Given the description of an element on the screen output the (x, y) to click on. 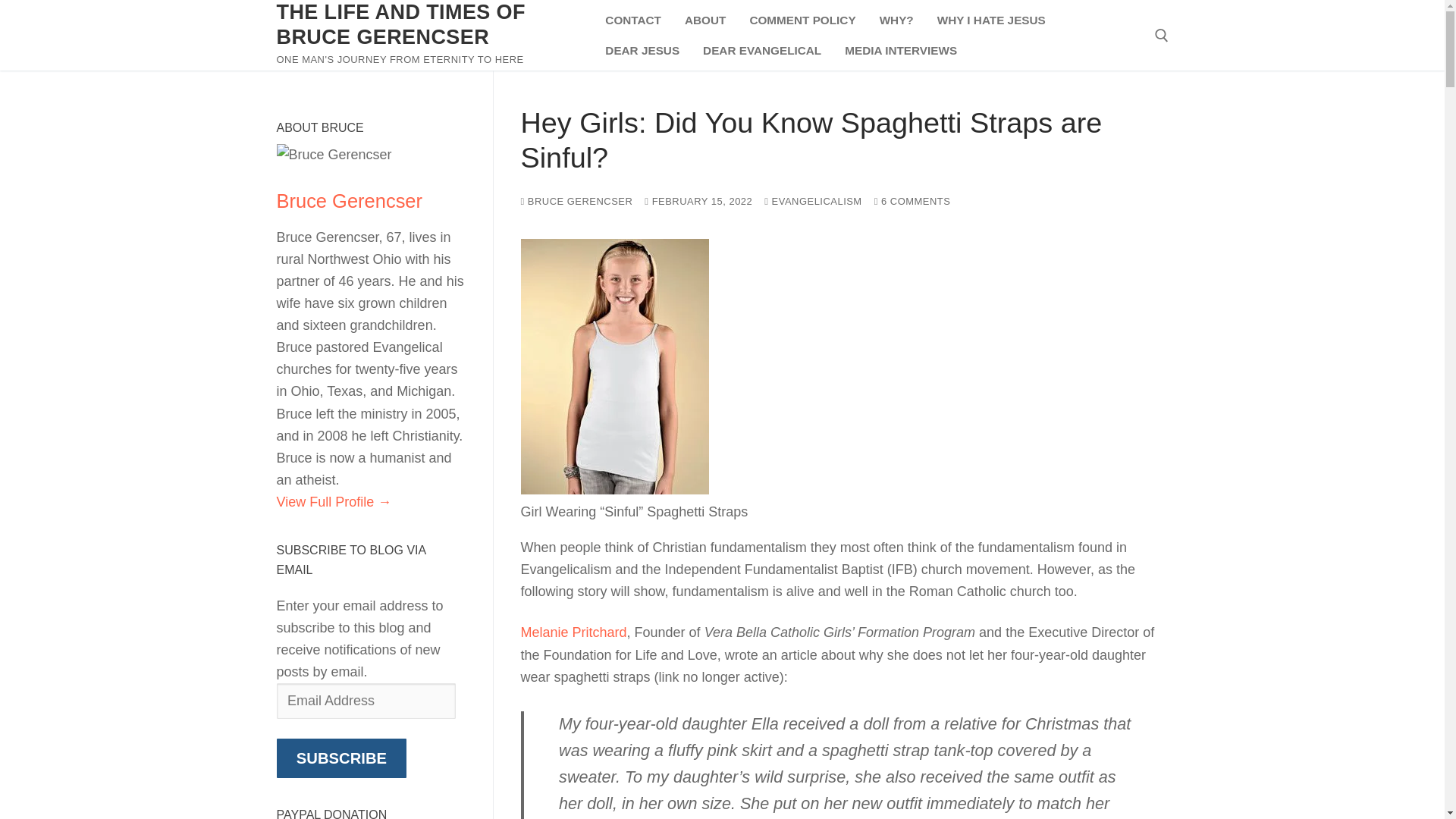
BRUCE GERENCSER (575, 201)
Melanie Pritchard (572, 631)
WHY? (896, 19)
EVANGELICALISM (812, 201)
WHY I HATE JESUS (991, 19)
COMMENT POLICY (801, 19)
MEDIA INTERVIEWS (900, 50)
THE LIFE AND TIMES OF BRUCE GERENCSER (428, 24)
ABOUT (705, 19)
CONTACT (633, 19)
